Given the description of an element on the screen output the (x, y) to click on. 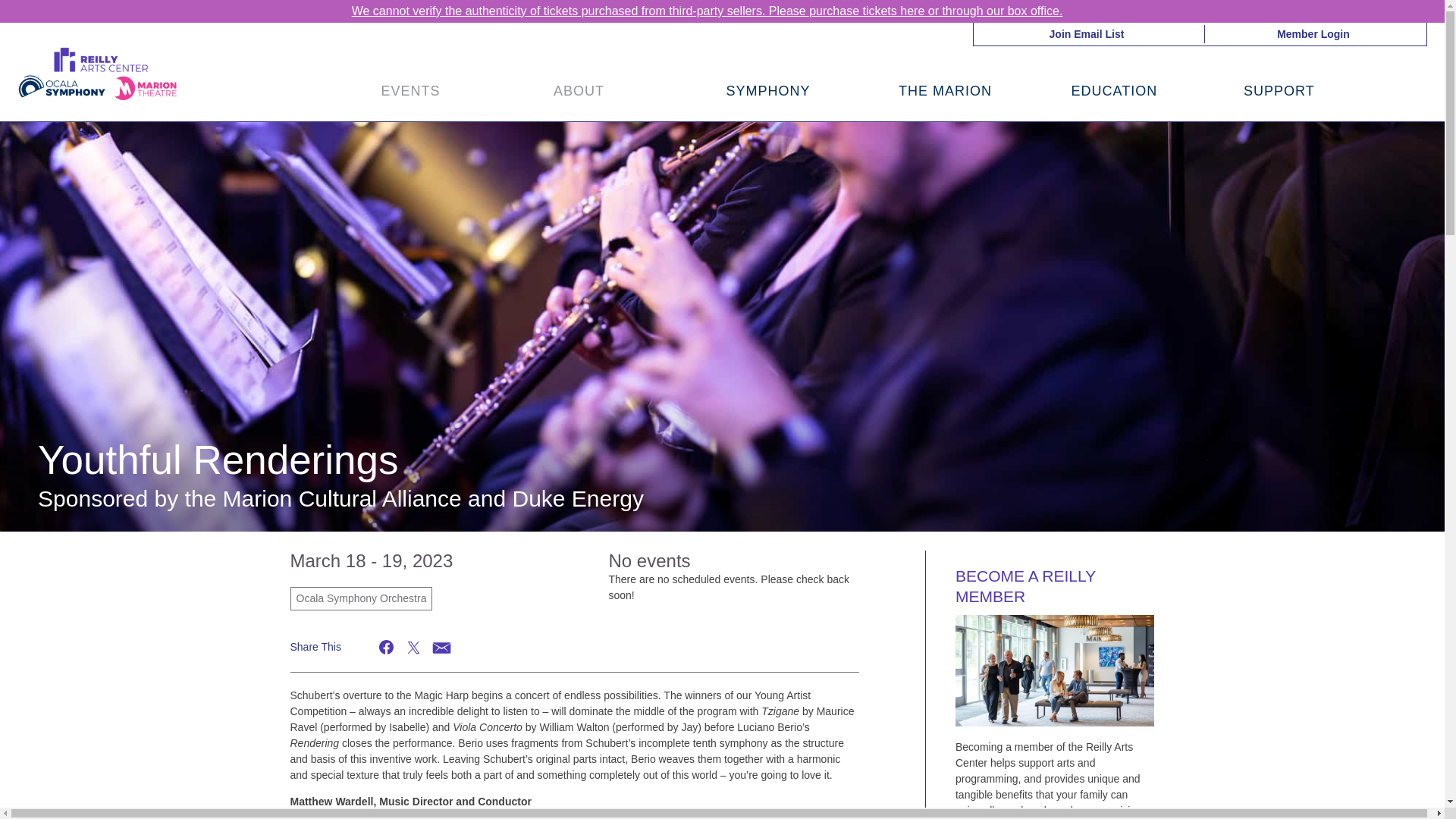
EDUCATION (1113, 90)
BECOME A REILLY MEMBER (1025, 586)
EVENTS  (412, 90)
Join Email List (1086, 33)
Member Login (1312, 33)
Share this via email (439, 647)
Ocala Symphony Orchestra (360, 598)
Skip to main content (55, 31)
SYMPHONY (768, 90)
ABOUT  (580, 90)
THE MARION (944, 90)
Share this on Facebook (386, 647)
SUPPORT (1278, 90)
Share this on Twitter (412, 647)
